Given the description of an element on the screen output the (x, y) to click on. 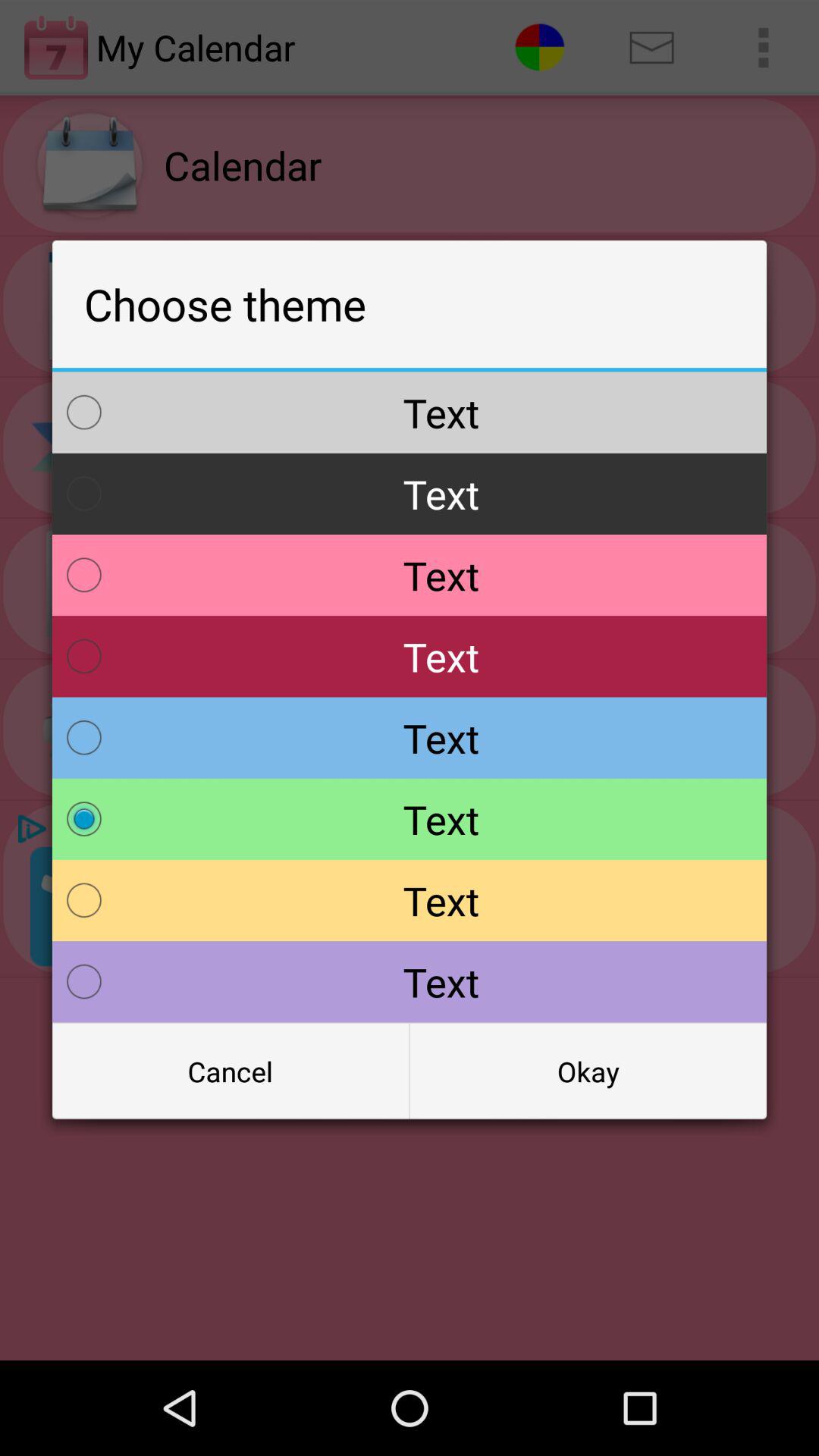
swipe to cancel (230, 1071)
